Given the description of an element on the screen output the (x, y) to click on. 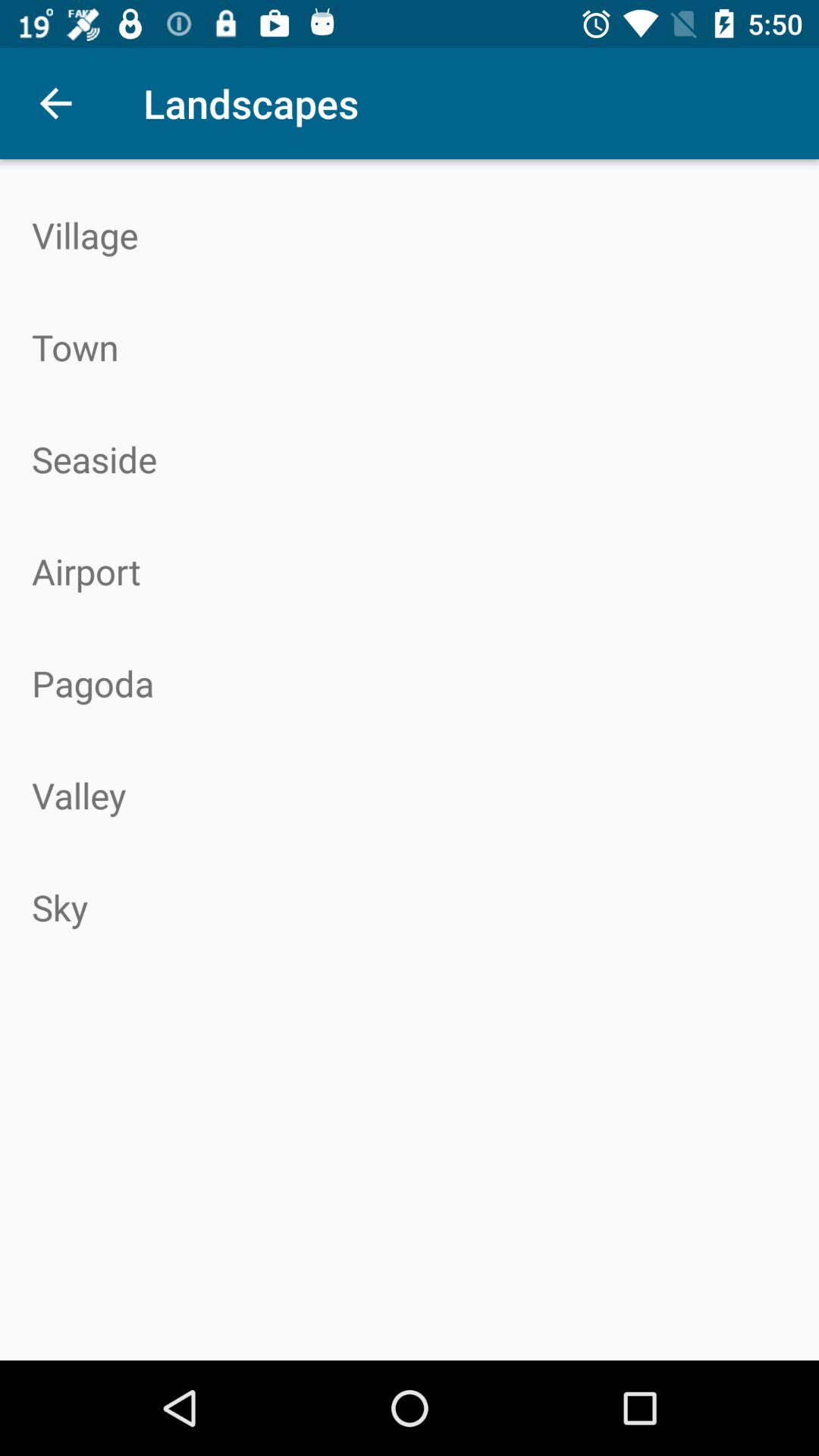
tap town (409, 347)
